Given the description of an element on the screen output the (x, y) to click on. 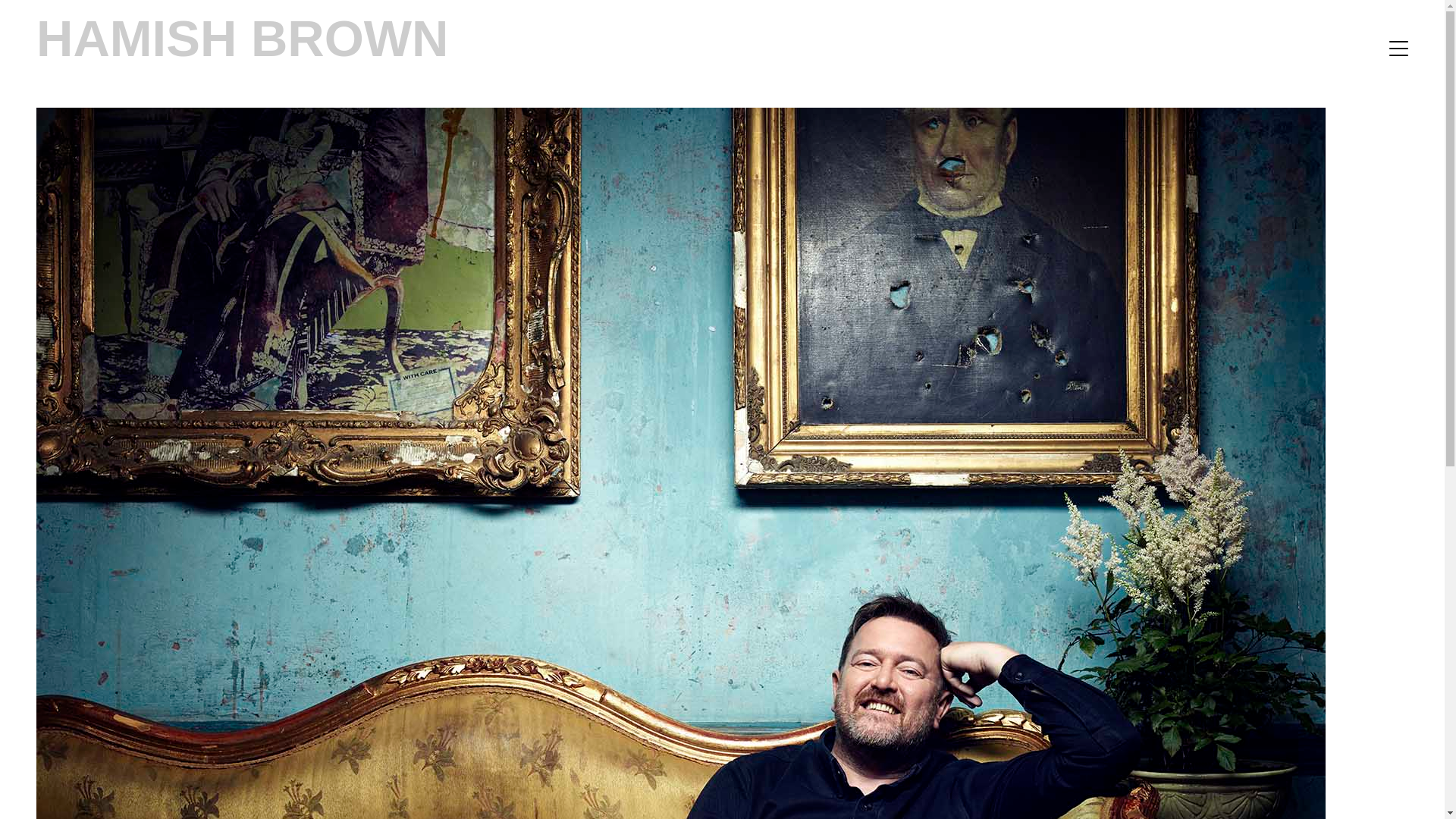
MENU (1398, 47)
Return to the homepage (242, 36)
HAMISH BROWN (242, 36)
